Given the description of an element on the screen output the (x, y) to click on. 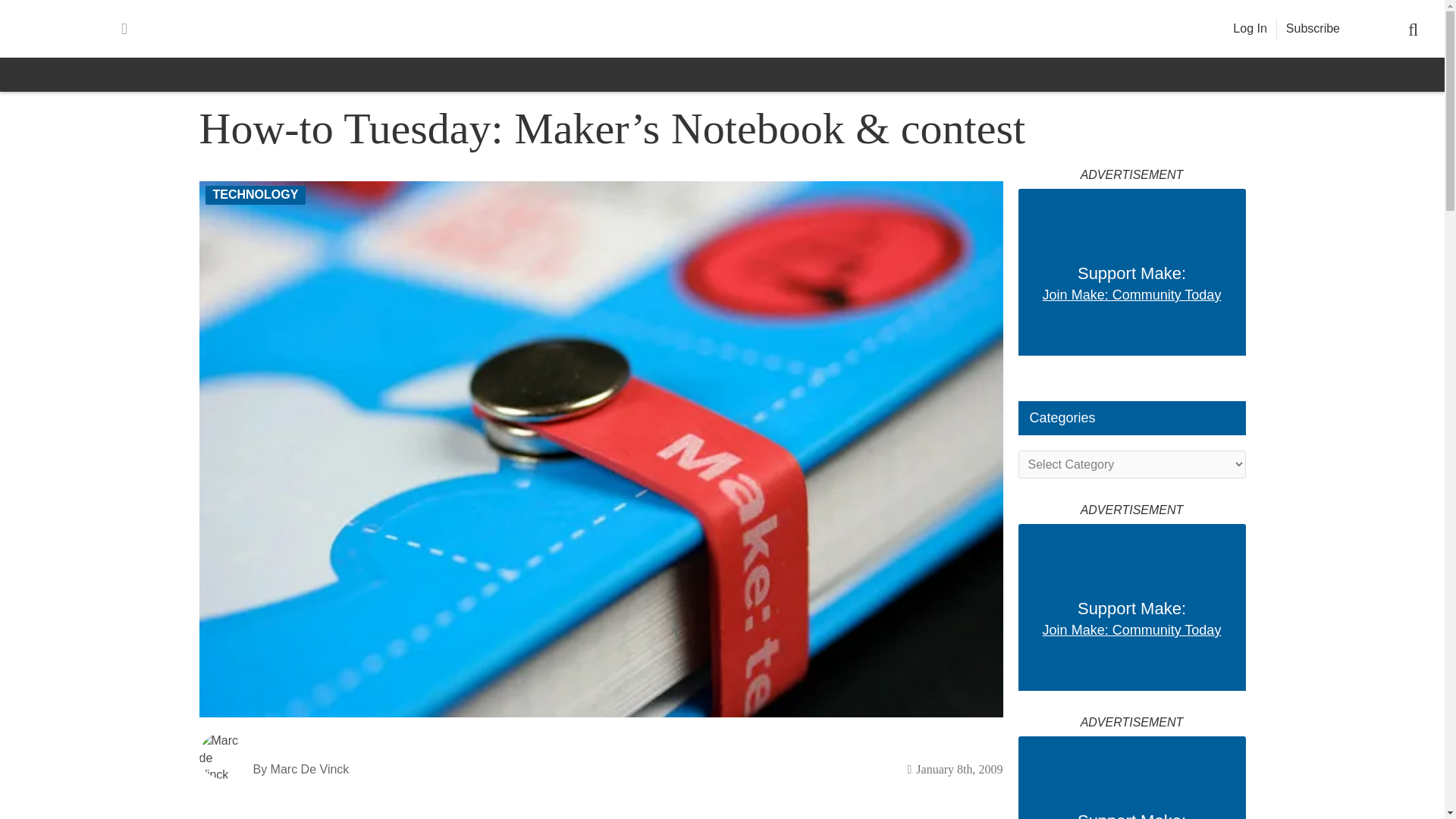
Log In (1249, 28)
